Given the description of an element on the screen output the (x, y) to click on. 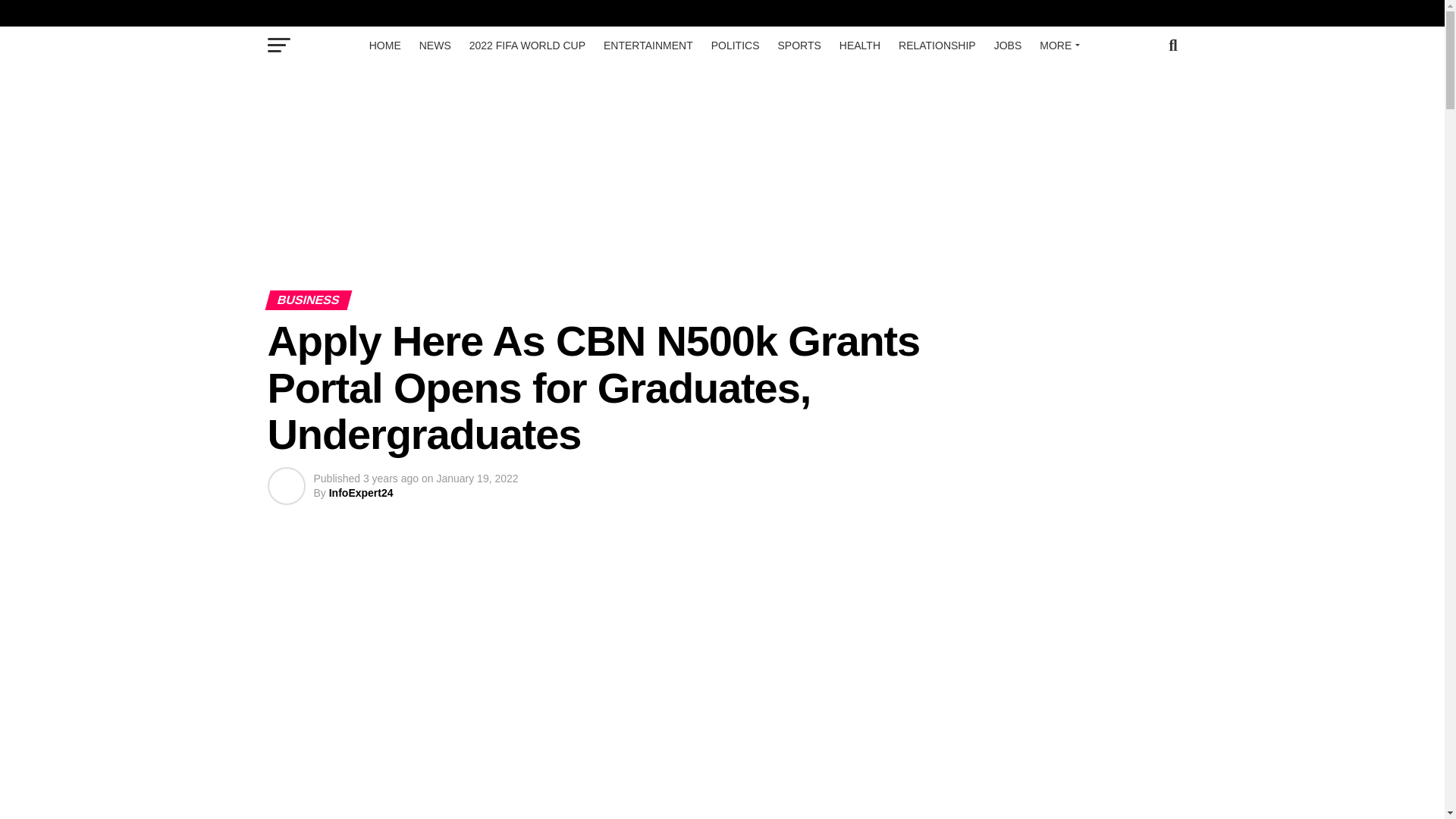
Posts by InfoExpert24 (361, 492)
HOME (384, 45)
ENTERTAINMENT (647, 45)
NEWS (435, 45)
2022 FIFA WORLD CUP (527, 45)
